Given the description of an element on the screen output the (x, y) to click on. 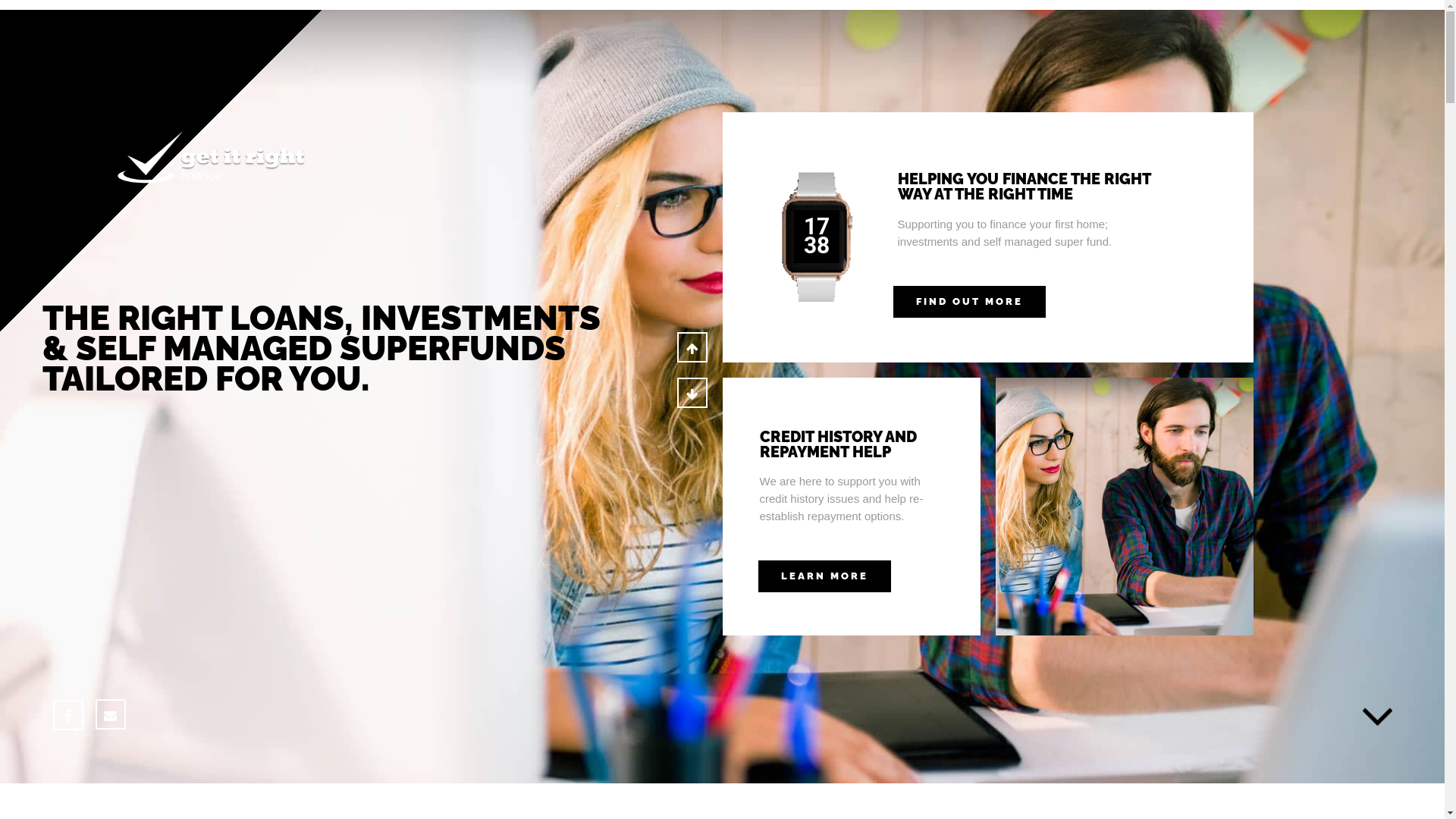
LEARN MORE Element type: text (824, 575)
FIND OUT MORE Element type: text (969, 300)
